Given the description of an element on the screen output the (x, y) to click on. 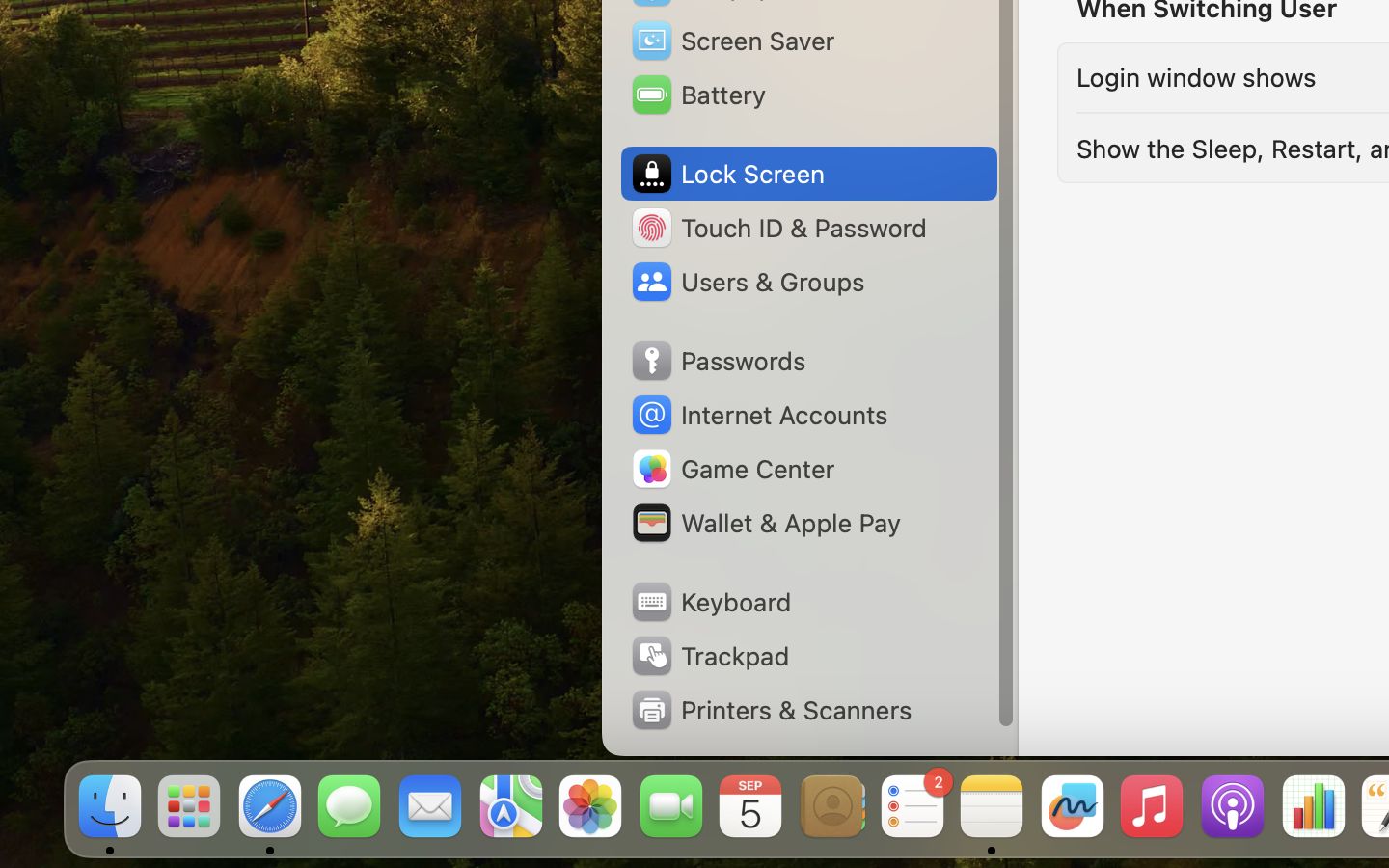
Battery Element type: AXStaticText (696, 94)
Game Center Element type: AXStaticText (731, 468)
Touch ID & Password Element type: AXStaticText (777, 227)
Passwords Element type: AXStaticText (717, 360)
Keyboard Element type: AXStaticText (709, 601)
